Given the description of an element on the screen output the (x, y) to click on. 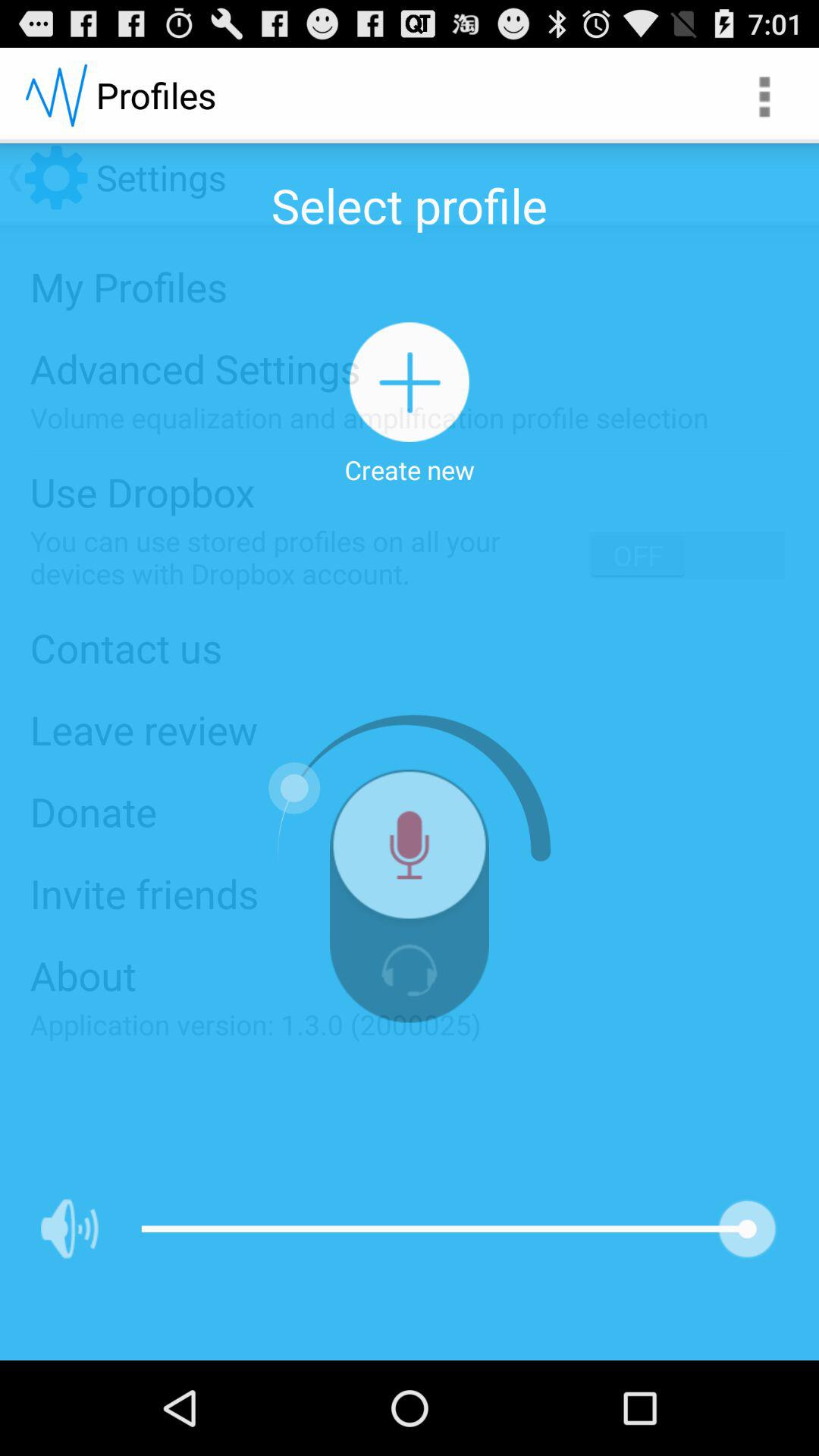
go to left of profiles (56, 95)
go to left of profiles (55, 95)
click on volume (69, 1228)
click on icon which is at top right corner (763, 95)
